Given the description of an element on the screen output the (x, y) to click on. 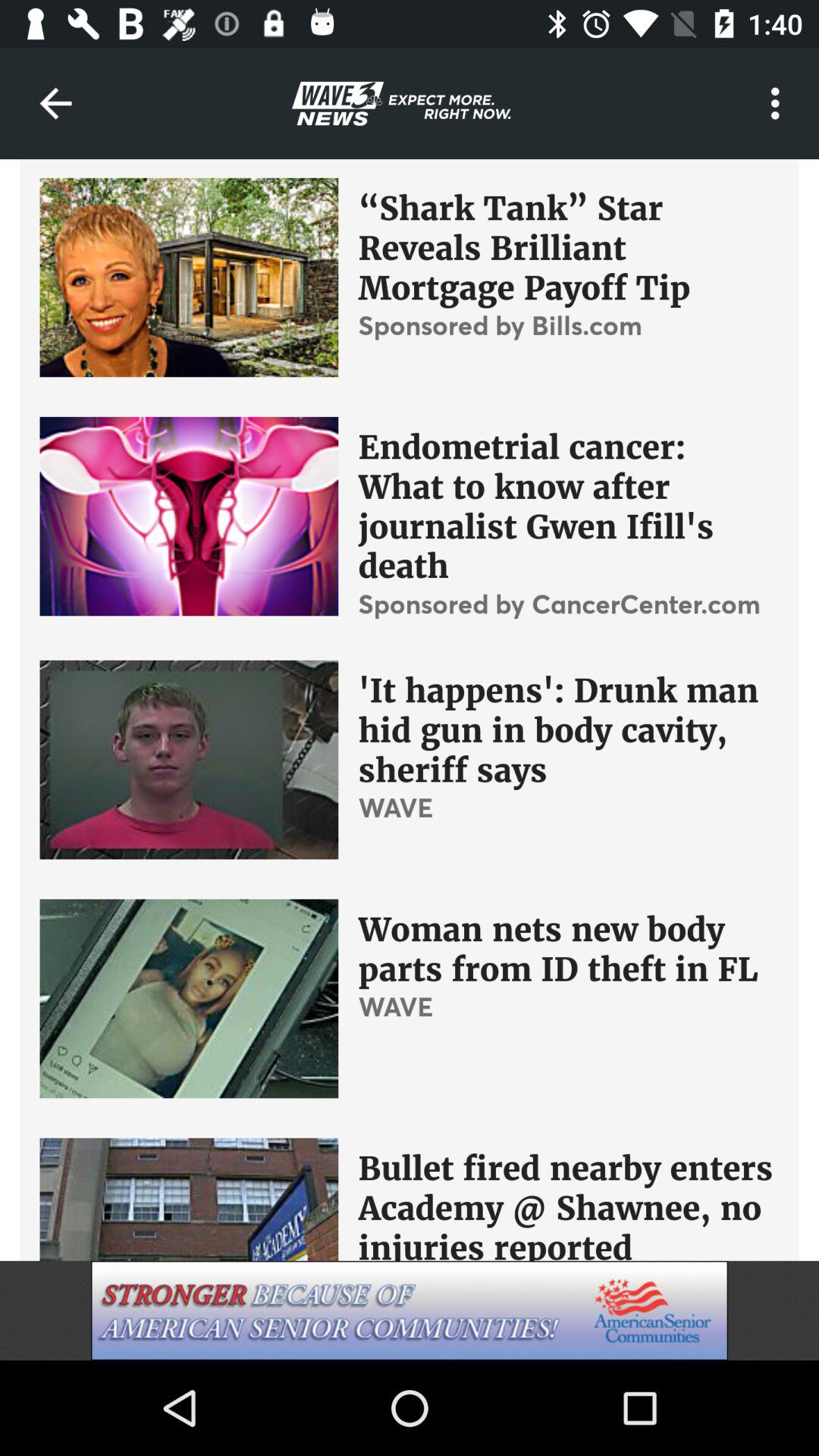
american senior communities advertisement (409, 1310)
